Given the description of an element on the screen output the (x, y) to click on. 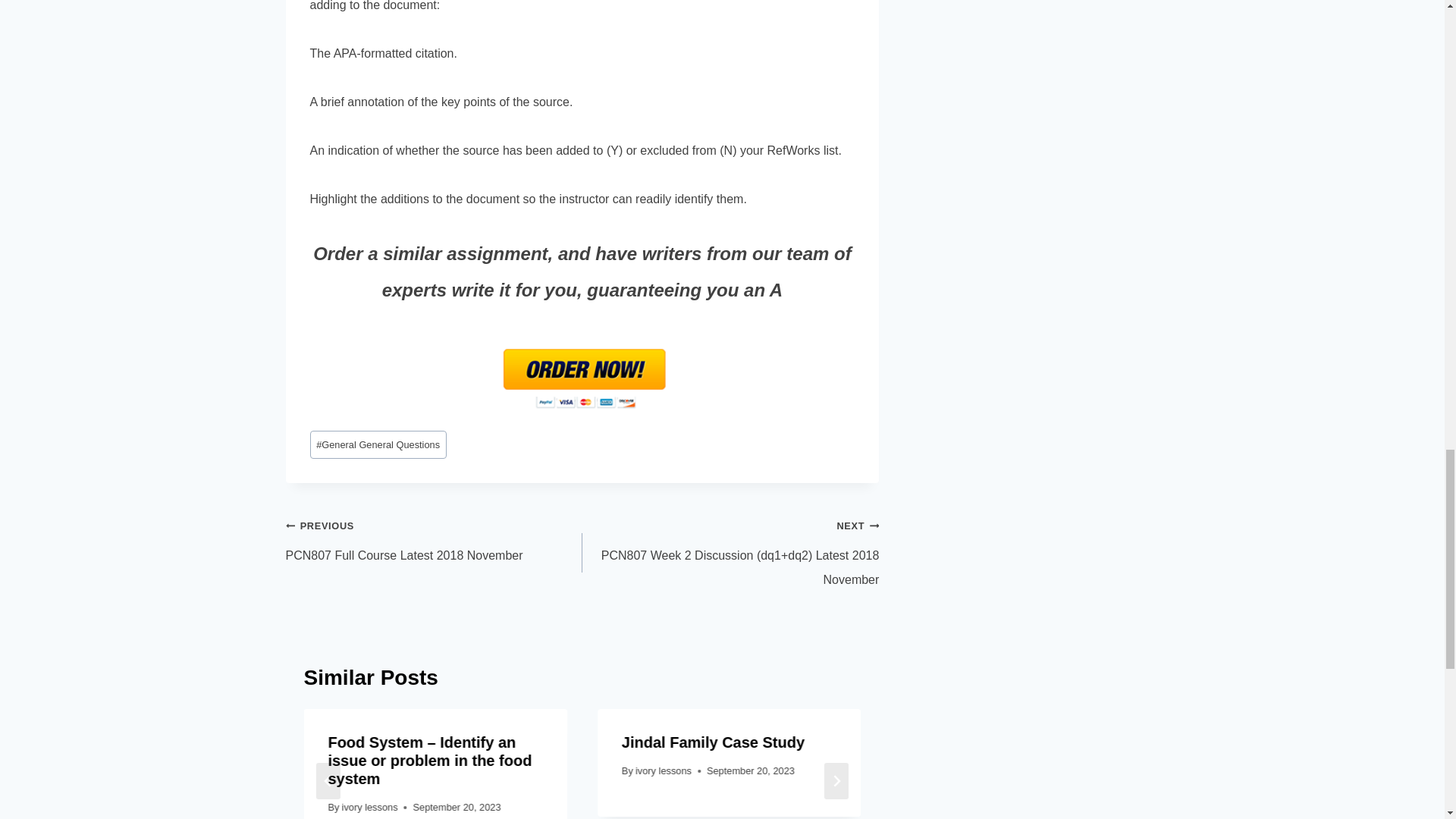
General General Questions (376, 444)
